Given the description of an element on the screen output the (x, y) to click on. 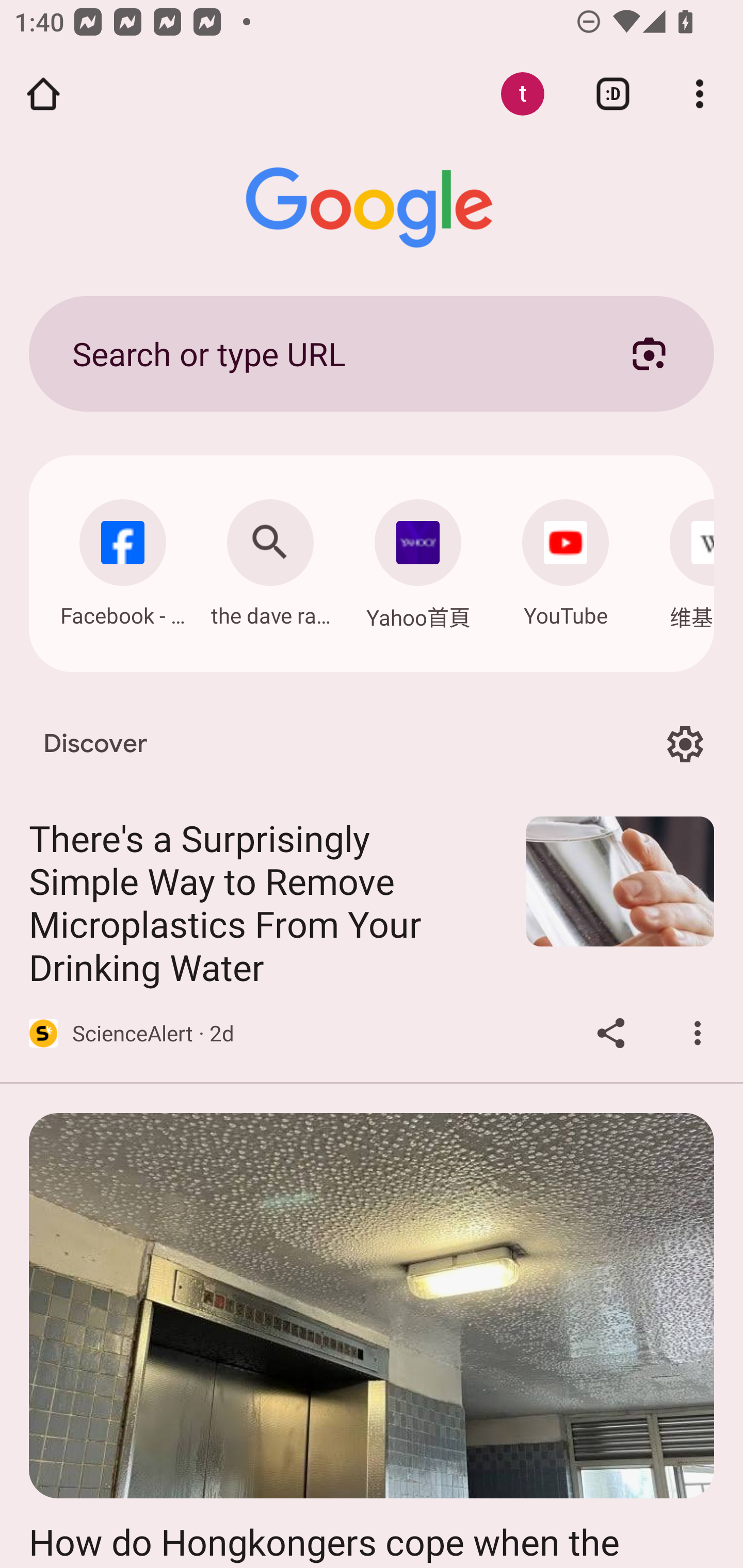
Open the home page (43, 93)
Switch or close tabs (612, 93)
Customize and control Google Chrome (699, 93)
Search or type URL (327, 353)
Search with your camera using Google Lens (648, 353)
Search: the dave ramsey show the dave ramsey show (270, 558)
Navigate: Yahoo首頁: hk.mobi.yahoo.com Yahoo首頁 (417, 558)
Navigate: YouTube: m.youtube.com YouTube (565, 558)
Options for Discover (684, 743)
